Given the description of an element on the screen output the (x, y) to click on. 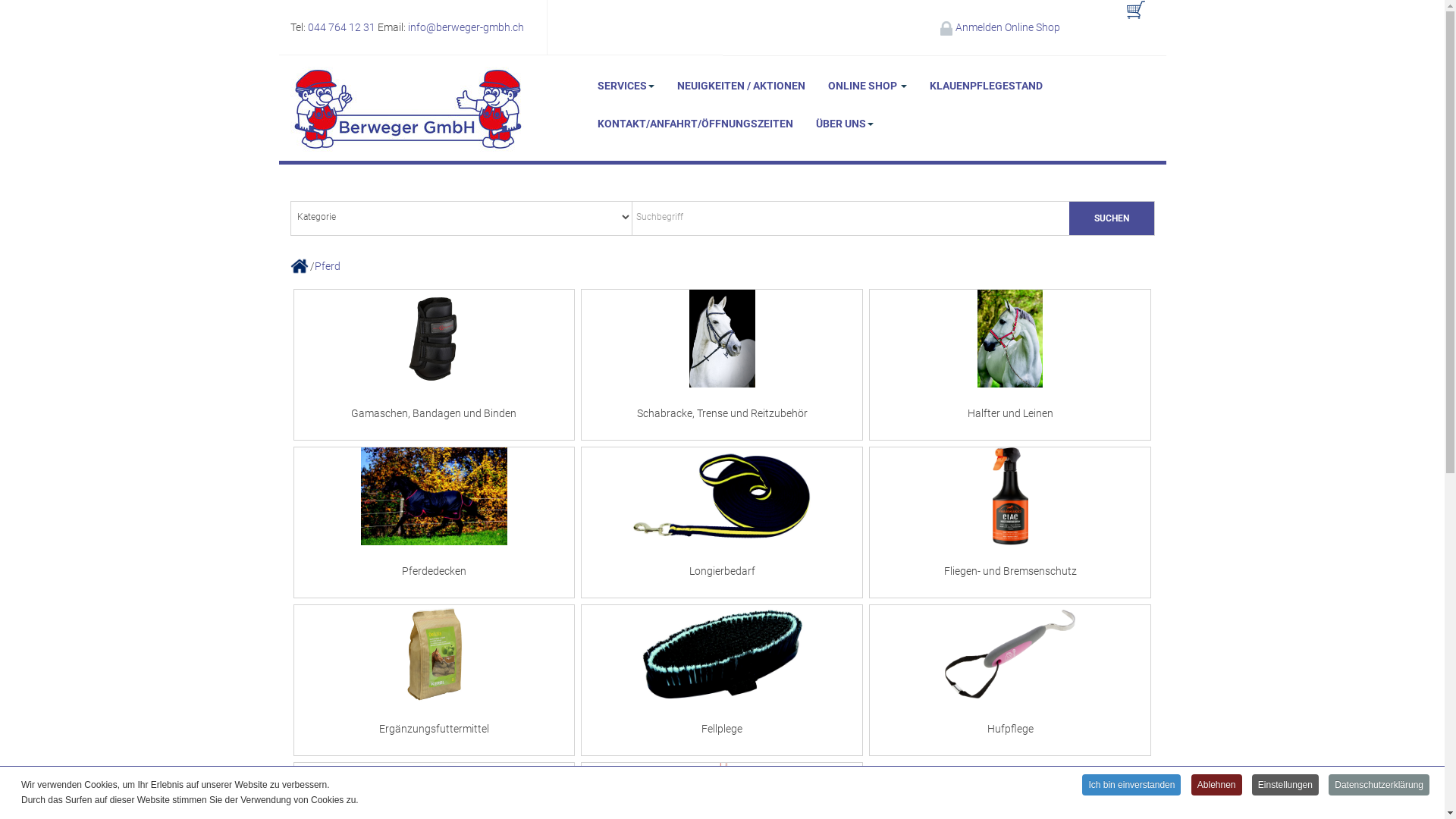
  Element type: text (1135, 18)
Alle Cookies erlauben Element type: text (588, 542)
Gamaschen, Bandagen und Binden Element type: text (433, 364)
Halfter und Leinen Element type: text (1010, 364)
1 Element type: text (686, 333)
Hufpflege Element type: text (1010, 680)
Pferdedecken Element type: text (433, 522)
Cookies ablehnen Element type: text (727, 542)
Fliegen- und Bremsenschutz Element type: text (1010, 522)
NEUIGKEITEN / AKTIONEN Element type: text (740, 85)
SERVICES Element type: text (625, 85)
Berweger Eisenwaren GmbH Element type: hover (406, 108)
SUCHEN Element type: text (1111, 218)
Einstellungen speichern Element type: text (866, 542)
Ablehnen Element type: text (1216, 785)
044 764 12 31 Element type: text (341, 27)
ONLINE SHOP Element type: text (866, 85)
Fellplege Element type: text (721, 680)
Ich bin einverstanden Element type: text (1131, 785)
Longierbedarf Element type: text (721, 522)
Einstellungen Element type: text (1285, 785)
KLAUENPFLEGESTAND Element type: text (985, 85)
Pferd Element type: text (327, 266)
